Given the description of an element on the screen output the (x, y) to click on. 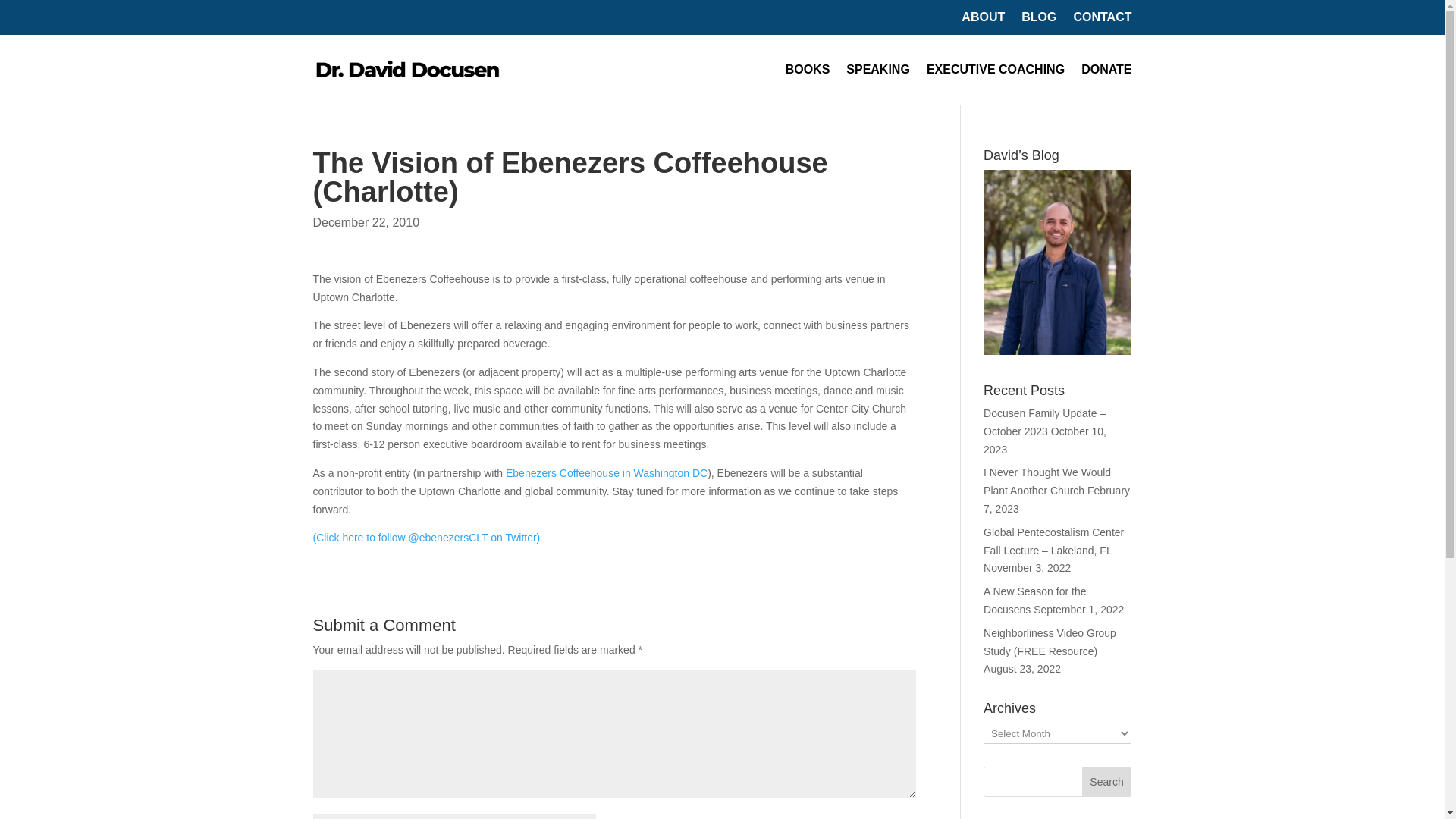
I Never Thought We Would Plant Another Church (1047, 481)
CONTACT (1102, 20)
Search (1106, 781)
A New Season for the Docusens (1035, 600)
ABOUT (982, 20)
BLOG (1039, 20)
SPEAKING (877, 69)
Search (1106, 781)
EXECUTIVE COACHING (995, 69)
Ebenezers Coffeehouse in Washington DC (606, 472)
